Given the description of an element on the screen output the (x, y) to click on. 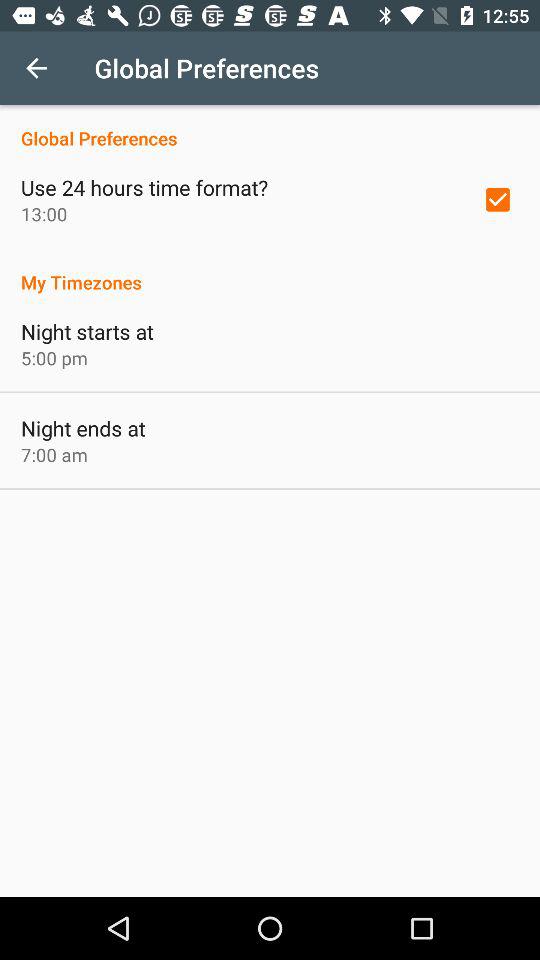
tap icon above the global preferences item (36, 68)
